Given the description of an element on the screen output the (x, y) to click on. 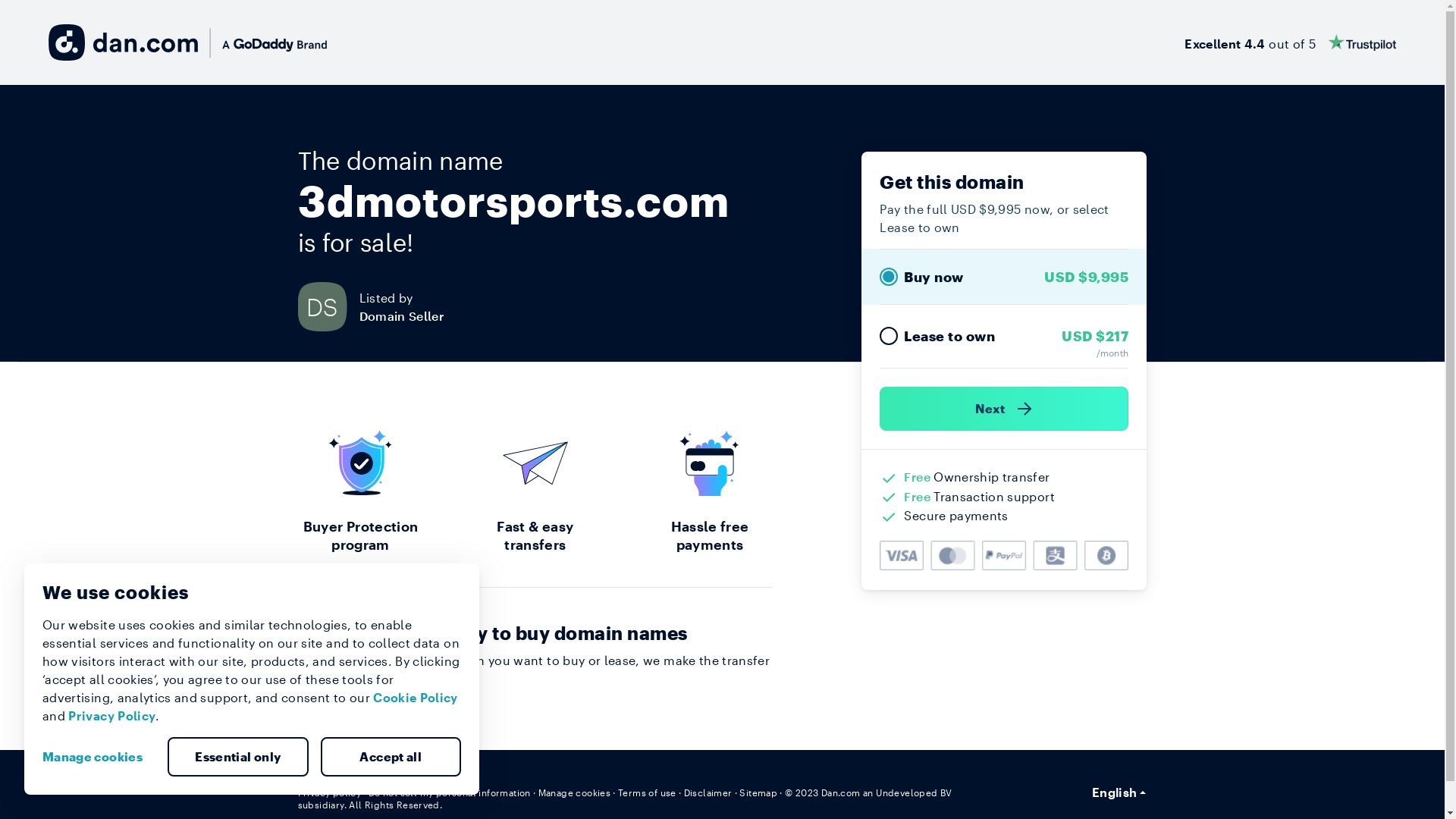
Sitemap Element type: text (758, 792)
Accept all Element type: text (390, 756)
English Element type: text (1119, 792)
Disclaimer Element type: text (708, 792)
Manage cookies Element type: text (574, 792)
Privacy Policy Element type: text (111, 715)
Excellent 4.4 out of 5 Element type: text (1290, 42)
Privacy policy Element type: text (328, 792)
Next
) Element type: text (1003, 408)
Terms of use Element type: text (647, 792)
Essential only Element type: text (237, 756)
Manage cookies Element type: text (98, 756)
Cookie Policy Element type: text (415, 697)
Do not sell my personal information Element type: text (449, 792)
